Given the description of an element on the screen output the (x, y) to click on. 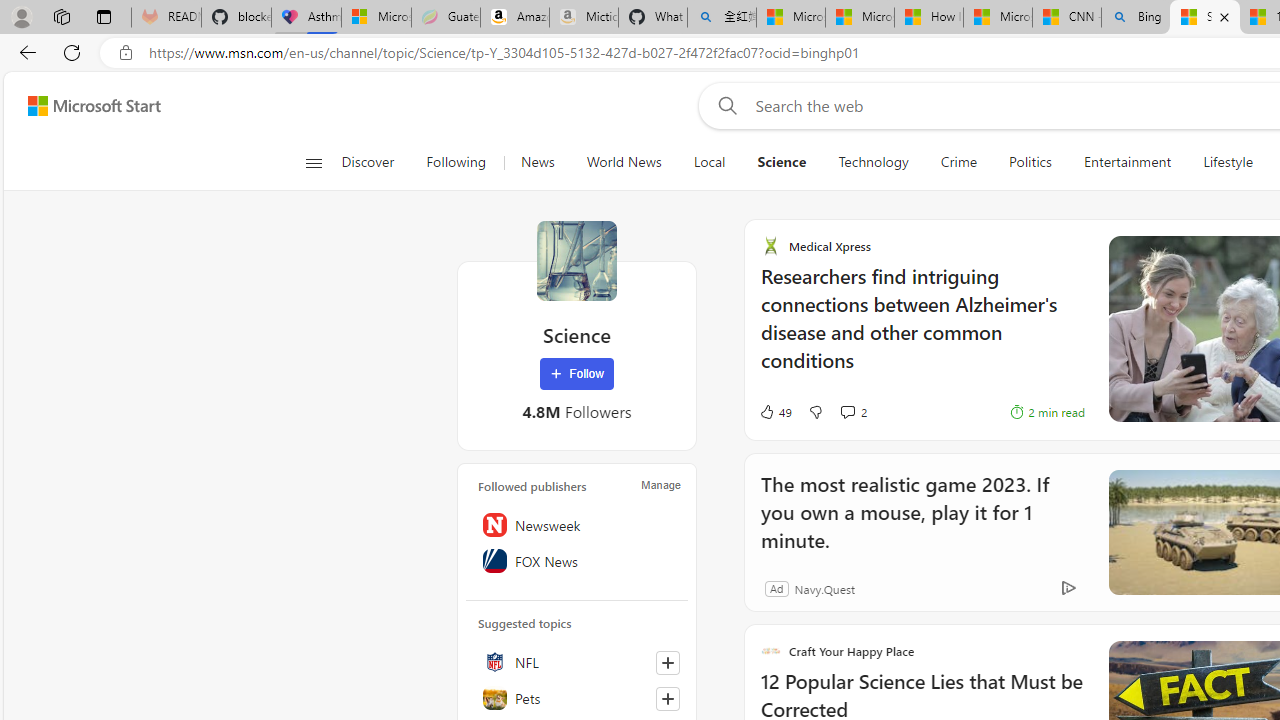
Science - MSN (1205, 17)
How I Got Rid of Microsoft Edge's Unnecessary Features (928, 17)
CNN - MSN (1066, 17)
